Given the description of an element on the screen output the (x, y) to click on. 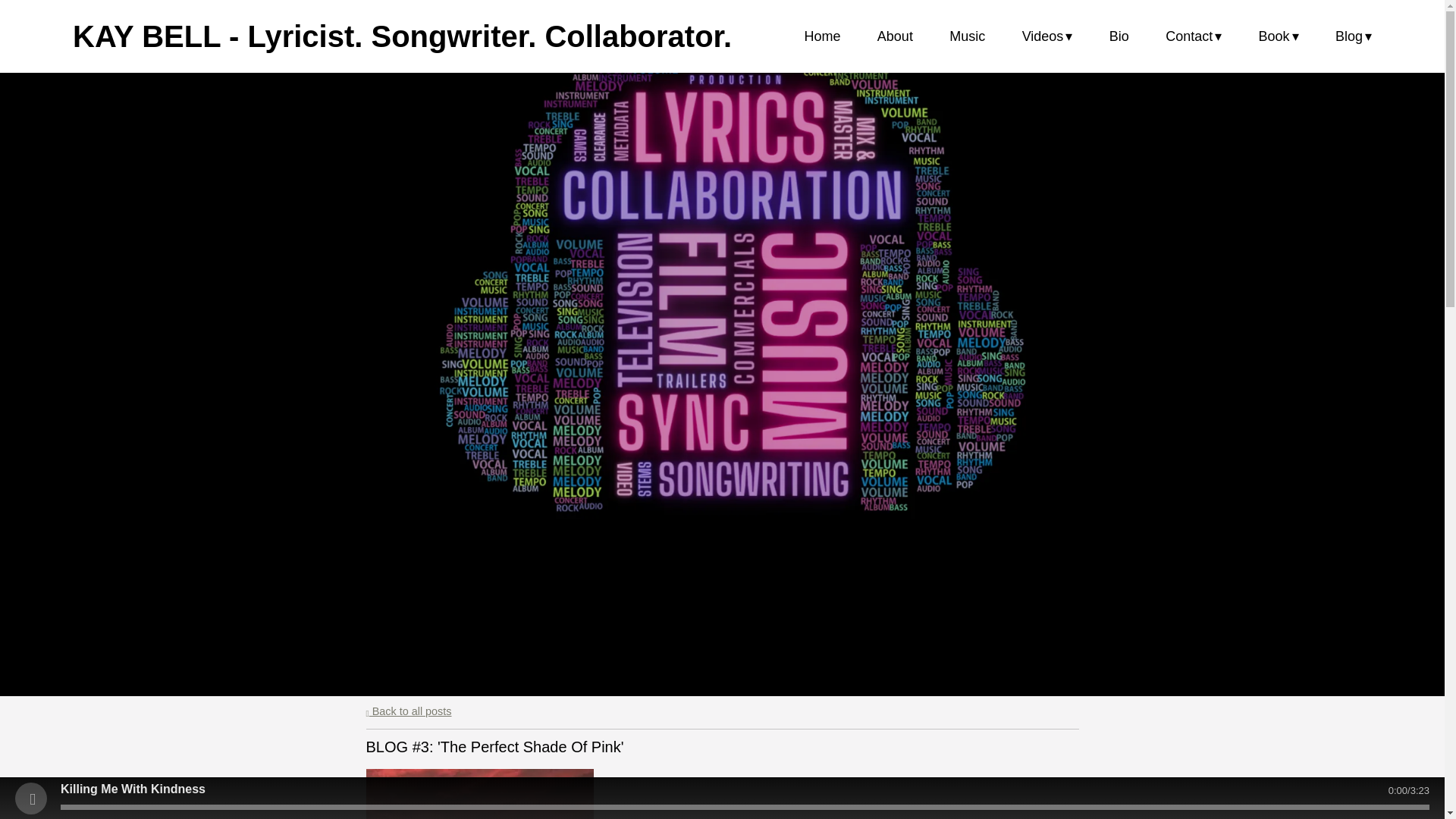
About (894, 36)
KAY BELL - Lyricist. Songwriter. Collaborator. (402, 36)
Book (1278, 36)
Music (967, 36)
Back to all posts (408, 711)
Blog (1353, 36)
Videos (1047, 36)
Home (821, 36)
Bio (1119, 36)
Contact (1193, 36)
